Given the description of an element on the screen output the (x, y) to click on. 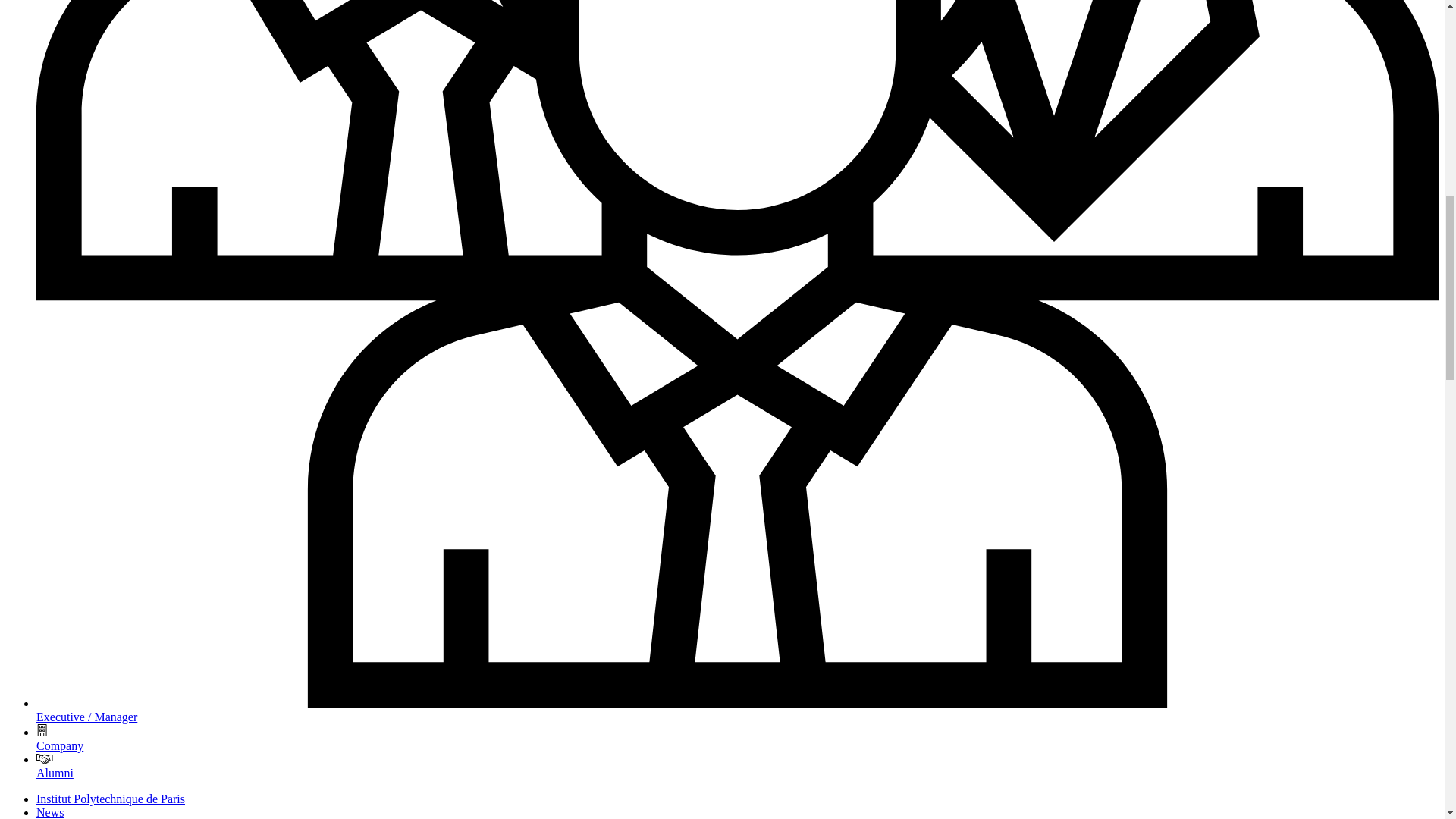
News (50, 812)
Click here to access "Company" (59, 745)
Click here to access "Alumni" (55, 772)
Institut Polytechnique de Paris (110, 798)
Company (59, 745)
Alumni (55, 772)
